Given the description of an element on the screen output the (x, y) to click on. 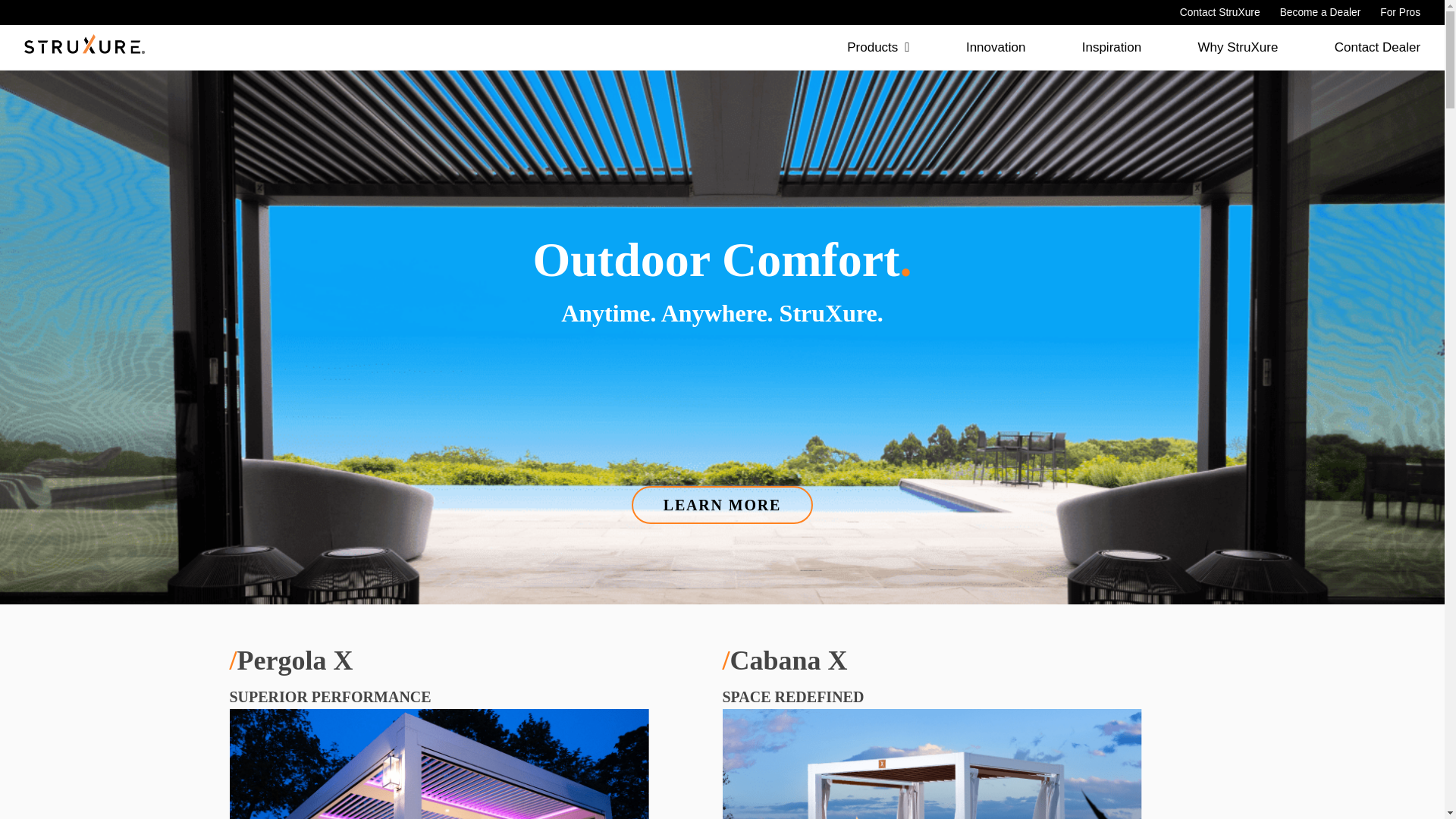
Become a Dealer (1320, 12)
Contact Dealer (1378, 47)
Products (877, 47)
For Pros (1400, 12)
Contact StruXure (1219, 12)
Innovation (995, 47)
Inspiration (1111, 47)
Why StruXure (1238, 47)
LEARN MORE (721, 505)
